Given the description of an element on the screen output the (x, y) to click on. 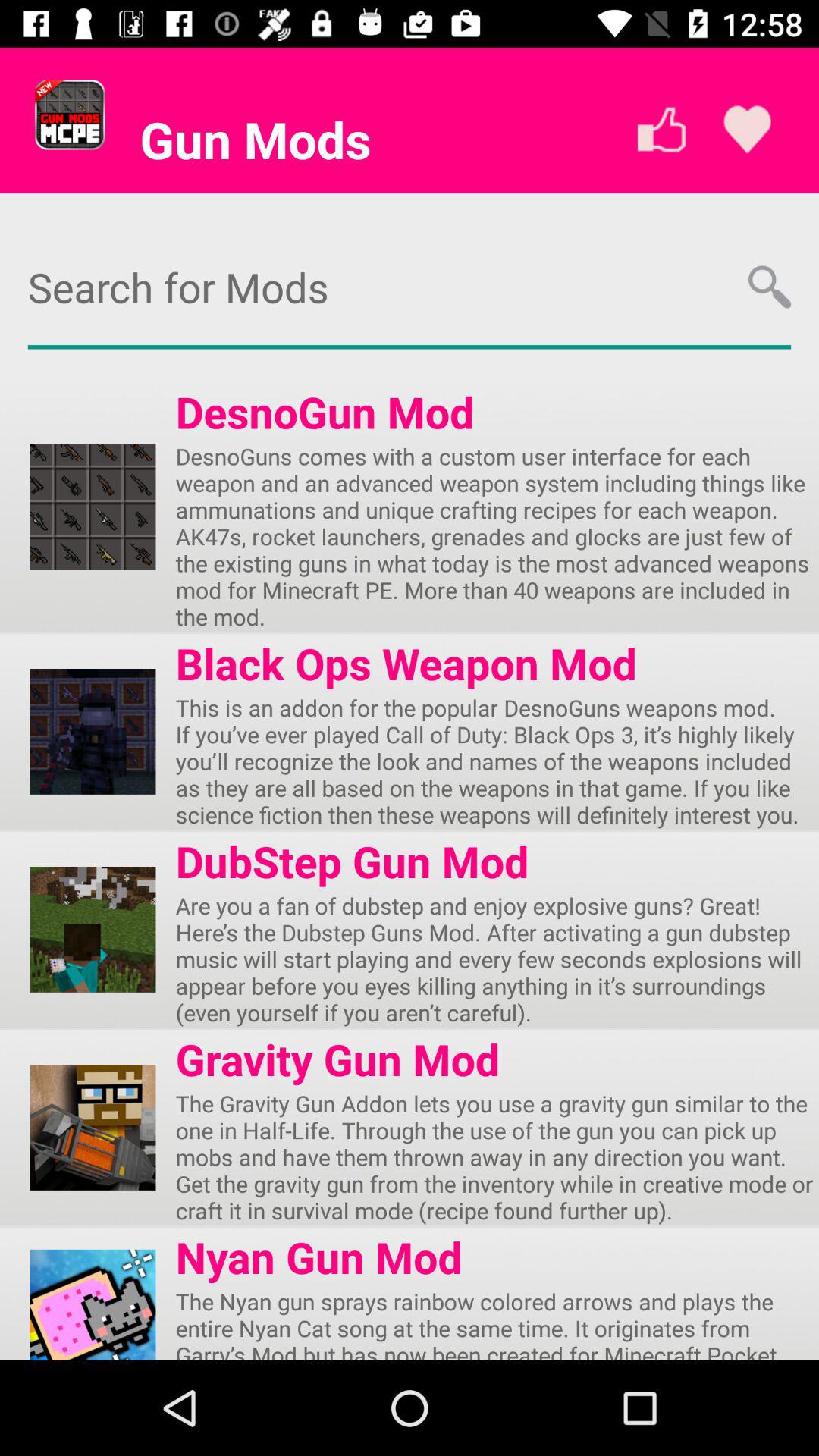
scroll to the desnoguns comes with (497, 535)
